Given the description of an element on the screen output the (x, y) to click on. 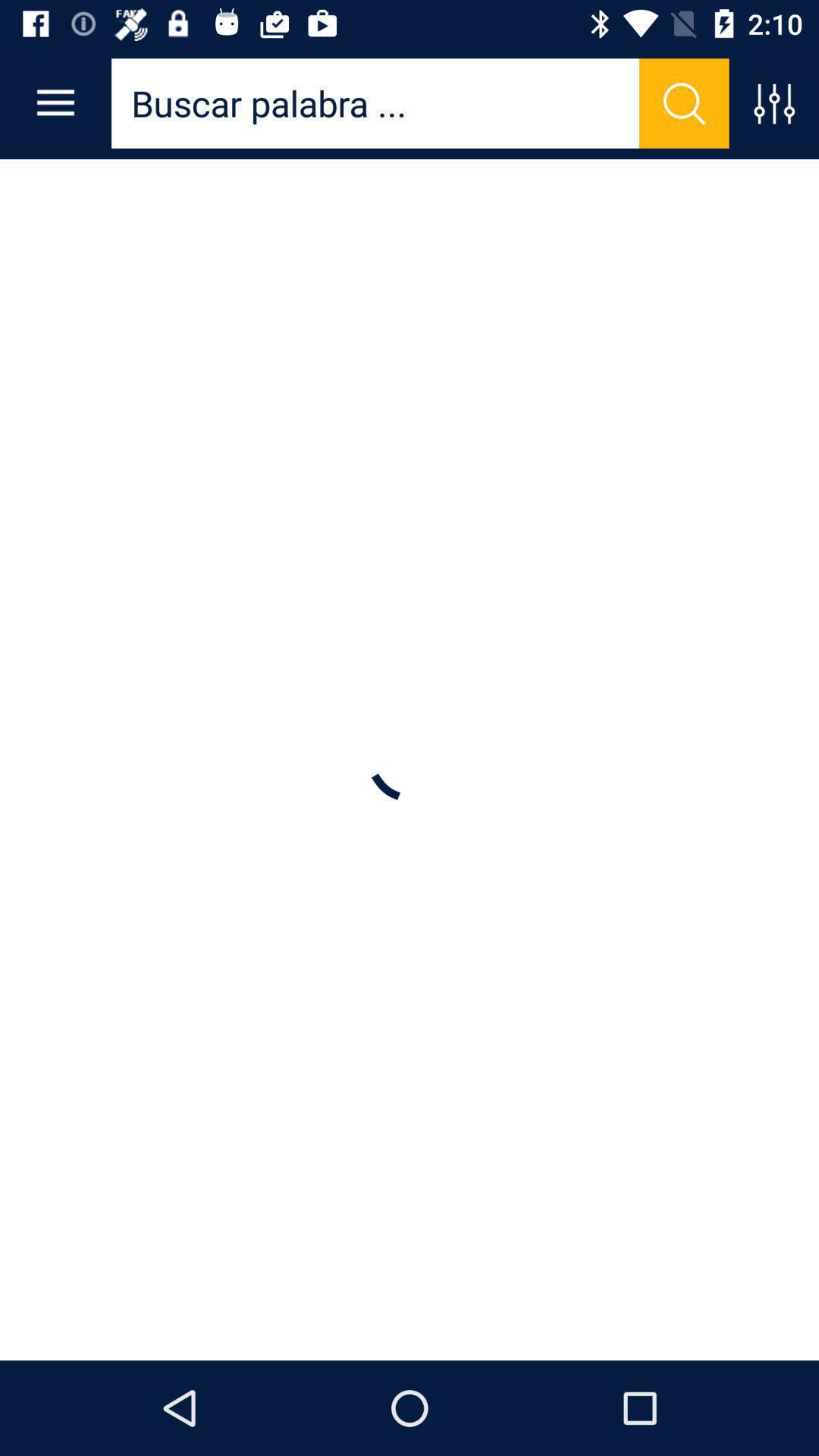
press the icon at the top left corner (55, 103)
